Given the description of an element on the screen output the (x, y) to click on. 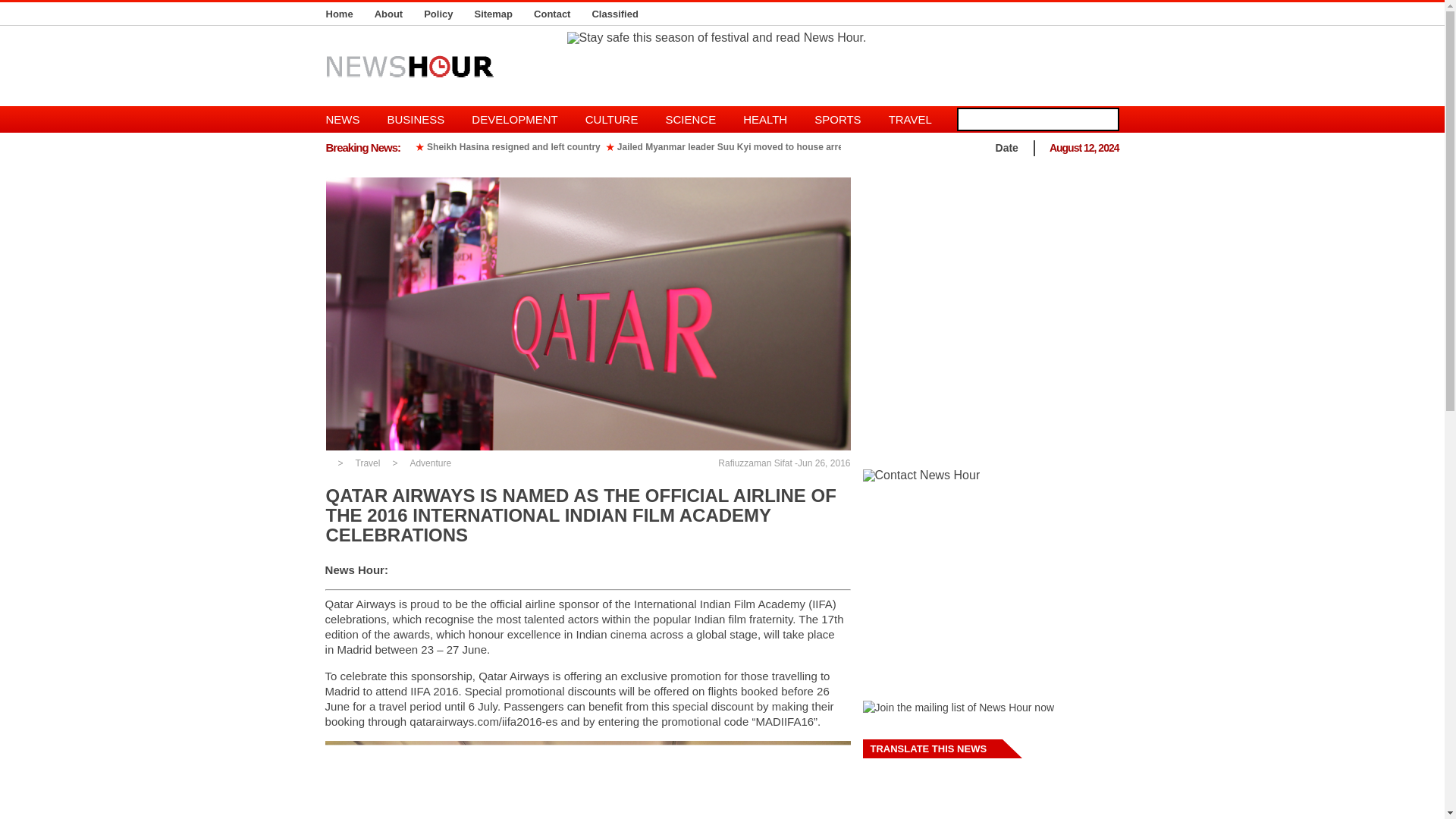
Contact (552, 13)
Stay safe this season of festival and read News Hour. (716, 37)
Business (415, 119)
NEWS (350, 119)
Classified (614, 13)
News (350, 119)
About (388, 13)
Policy (437, 13)
Home (339, 13)
Sitemap (493, 13)
